Given the description of an element on the screen output the (x, y) to click on. 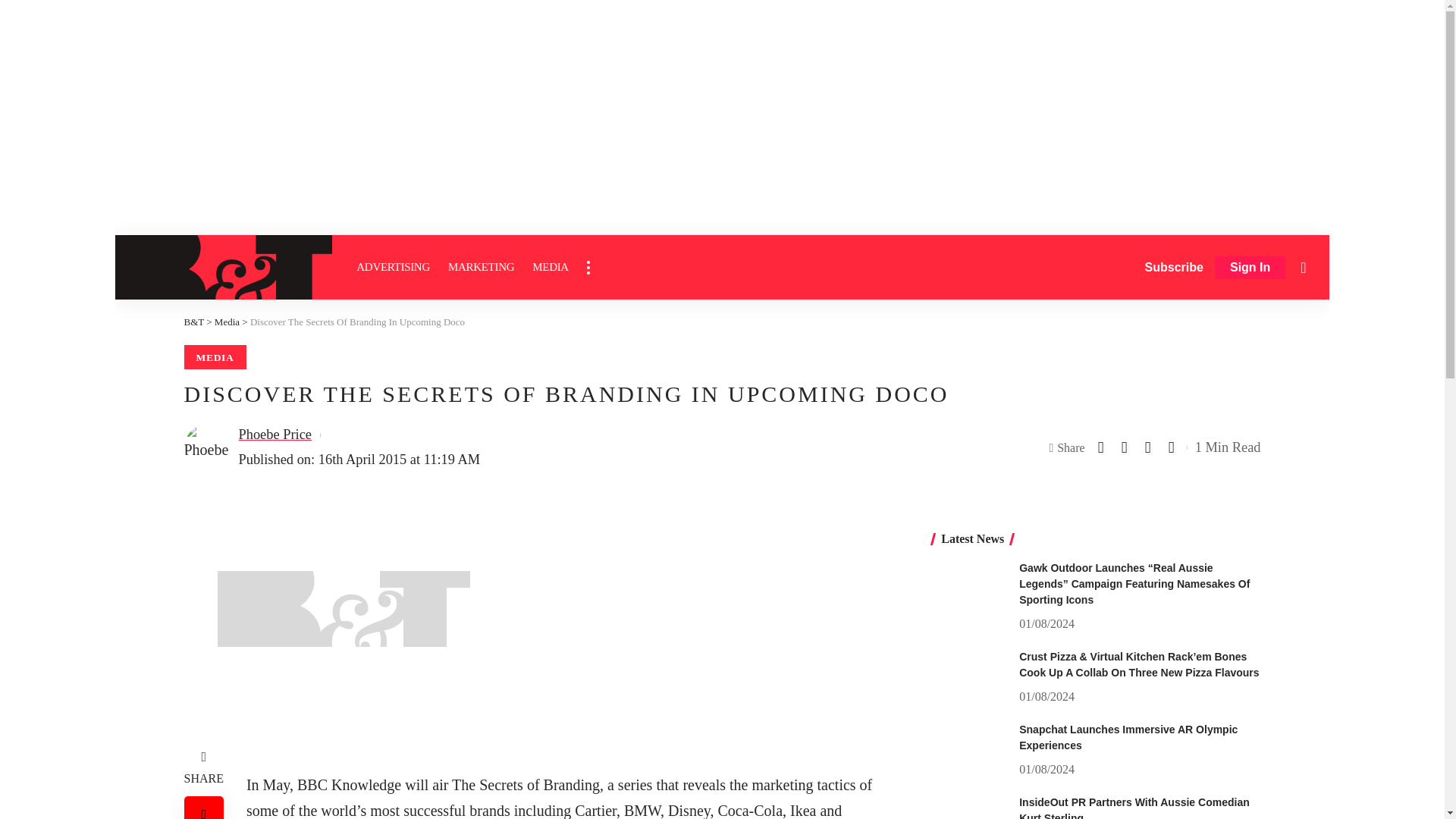
ADVERTISING (393, 267)
MARKETING (480, 267)
Go to the Media Category archives. (227, 321)
Snapchat Launches Immersive AR Olympic Experiences (969, 749)
Sign In (1249, 267)
Subscribe (1174, 267)
InsideOut PR Partners With Aussie Comedian Kurt Sterling (969, 806)
